Given the description of an element on the screen output the (x, y) to click on. 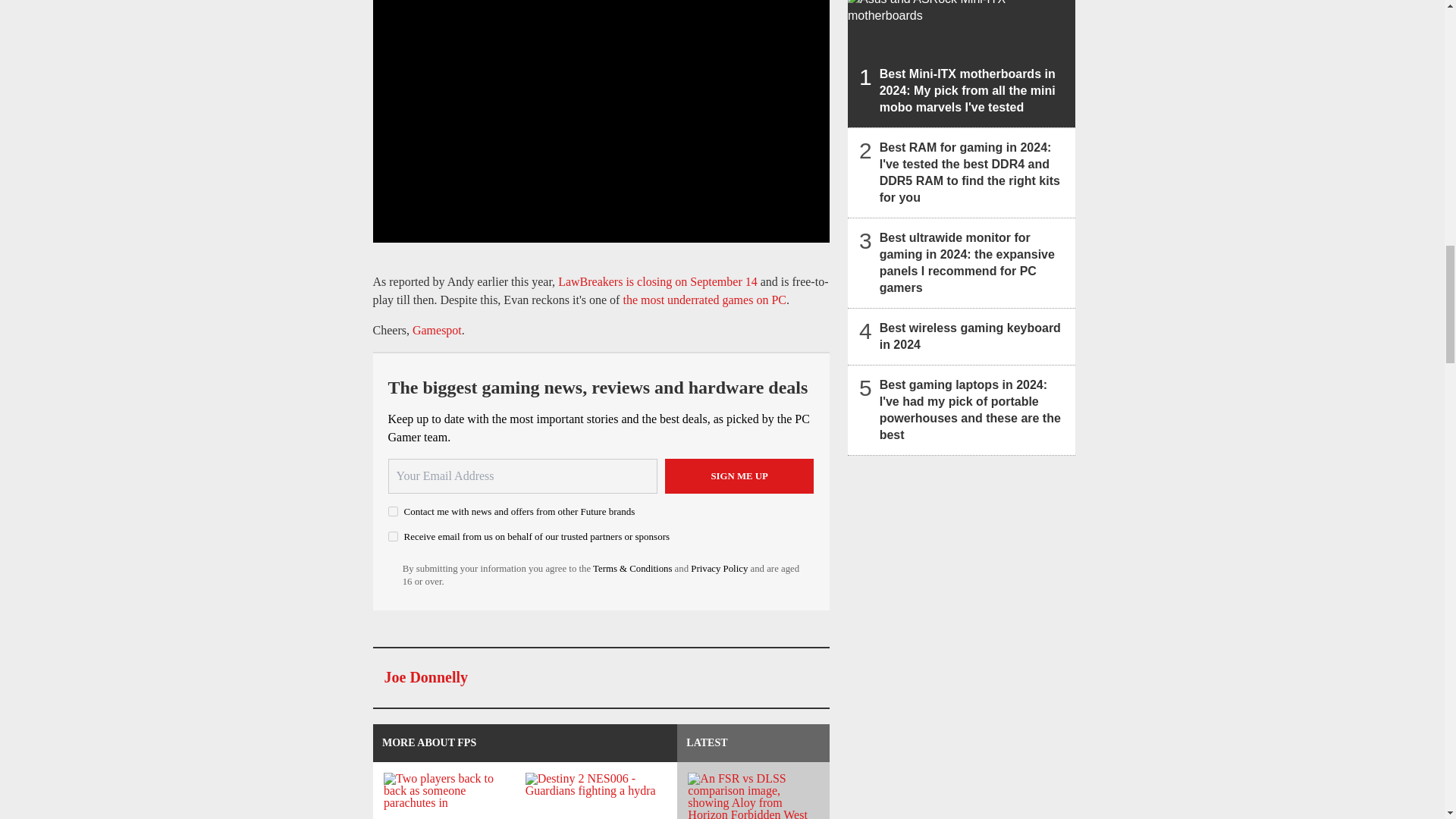
on (392, 536)
on (392, 511)
Sign me up (739, 475)
